Given the description of an element on the screen output the (x, y) to click on. 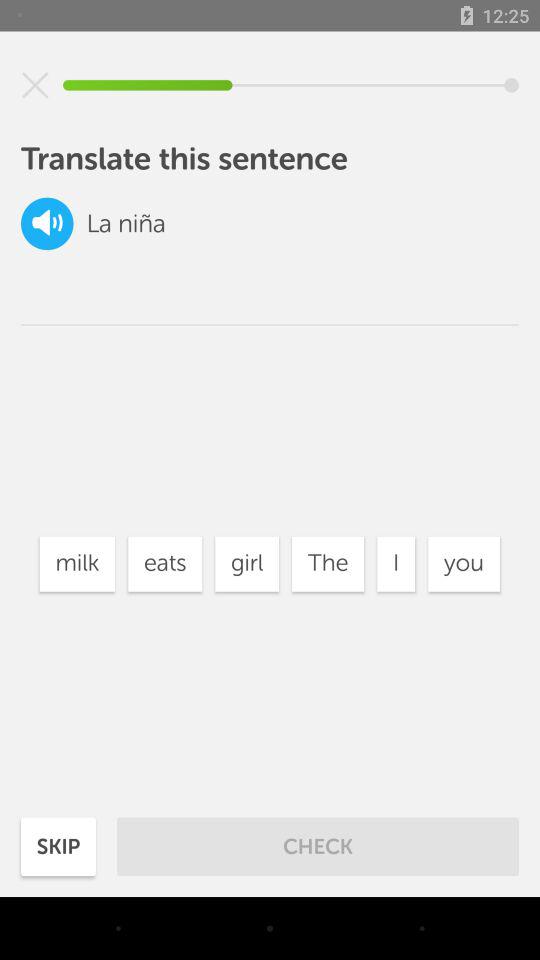
open the icon below translate this sentence item (328, 563)
